Given the description of an element on the screen output the (x, y) to click on. 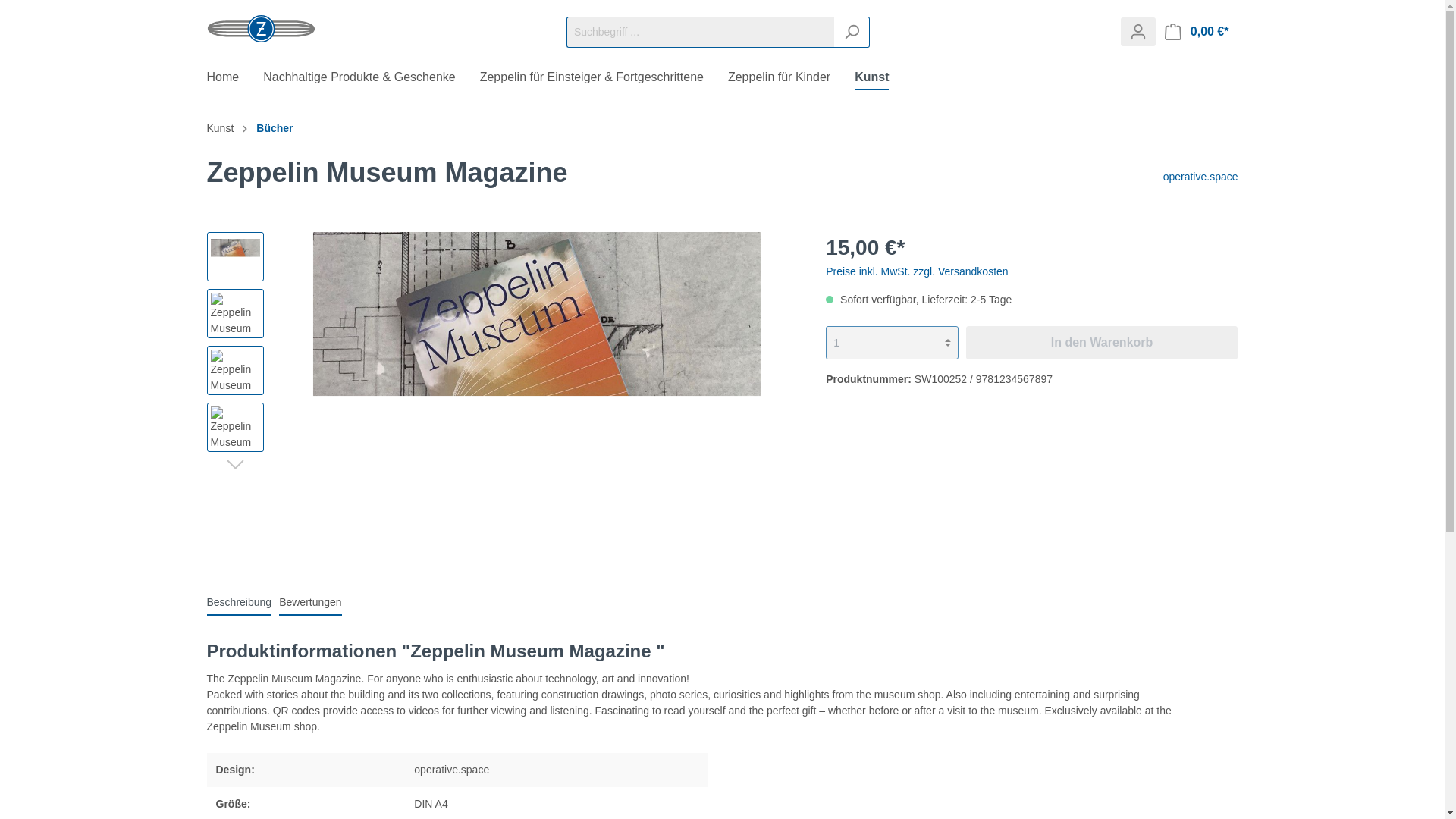
Kunst (883, 79)
Mein Konto (1138, 31)
Kunst (219, 128)
Home (234, 79)
operative.space (1201, 175)
Home (234, 79)
Zur Startseite wechseln (260, 28)
Warenkorb (1197, 31)
Kunst (883, 79)
